Given the description of an element on the screen output the (x, y) to click on. 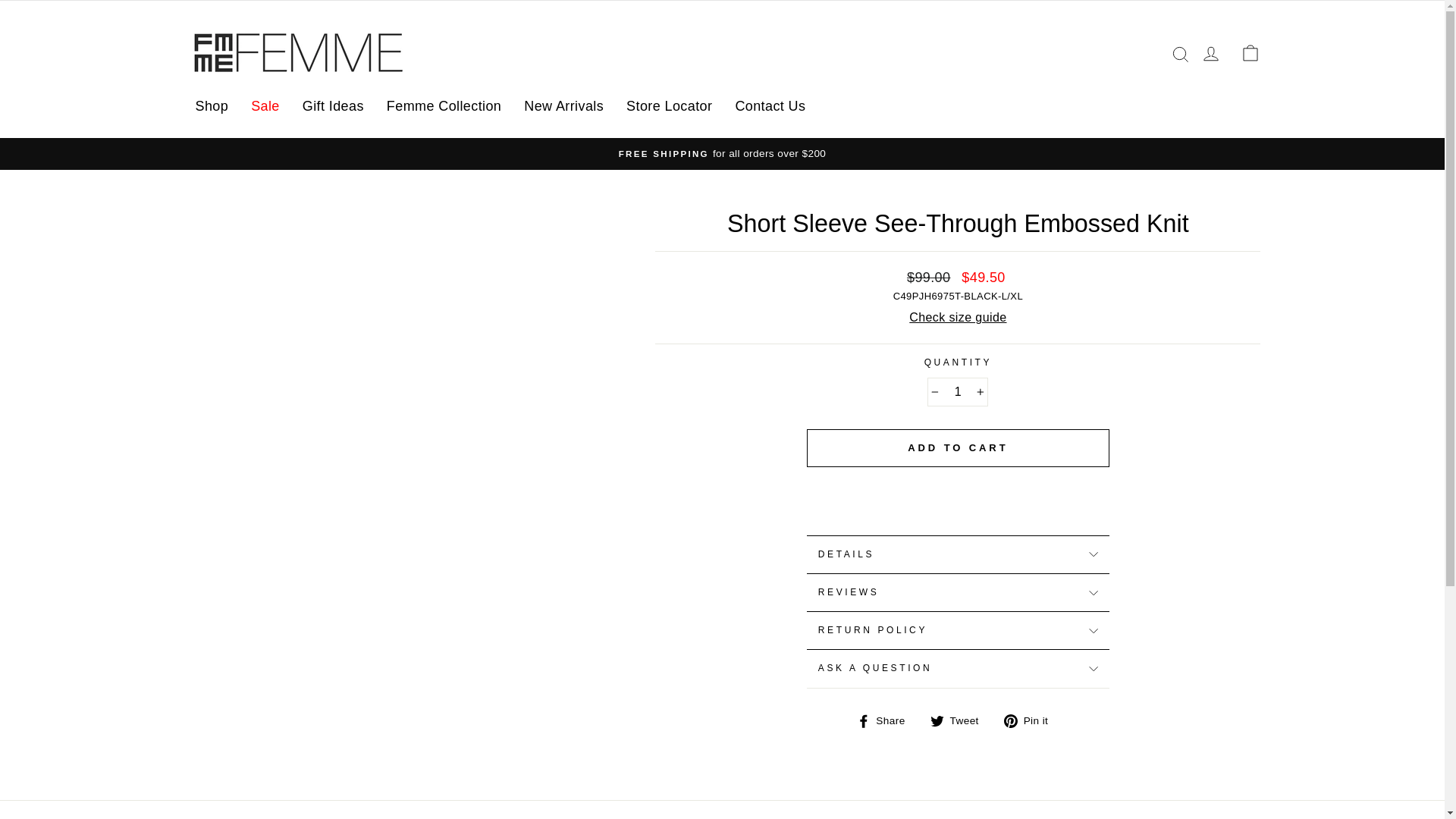
Share on Facebook (887, 721)
Tweet on Twitter (960, 721)
Pin on Pinterest (1031, 721)
1 (957, 391)
